Given the description of an element on the screen output the (x, y) to click on. 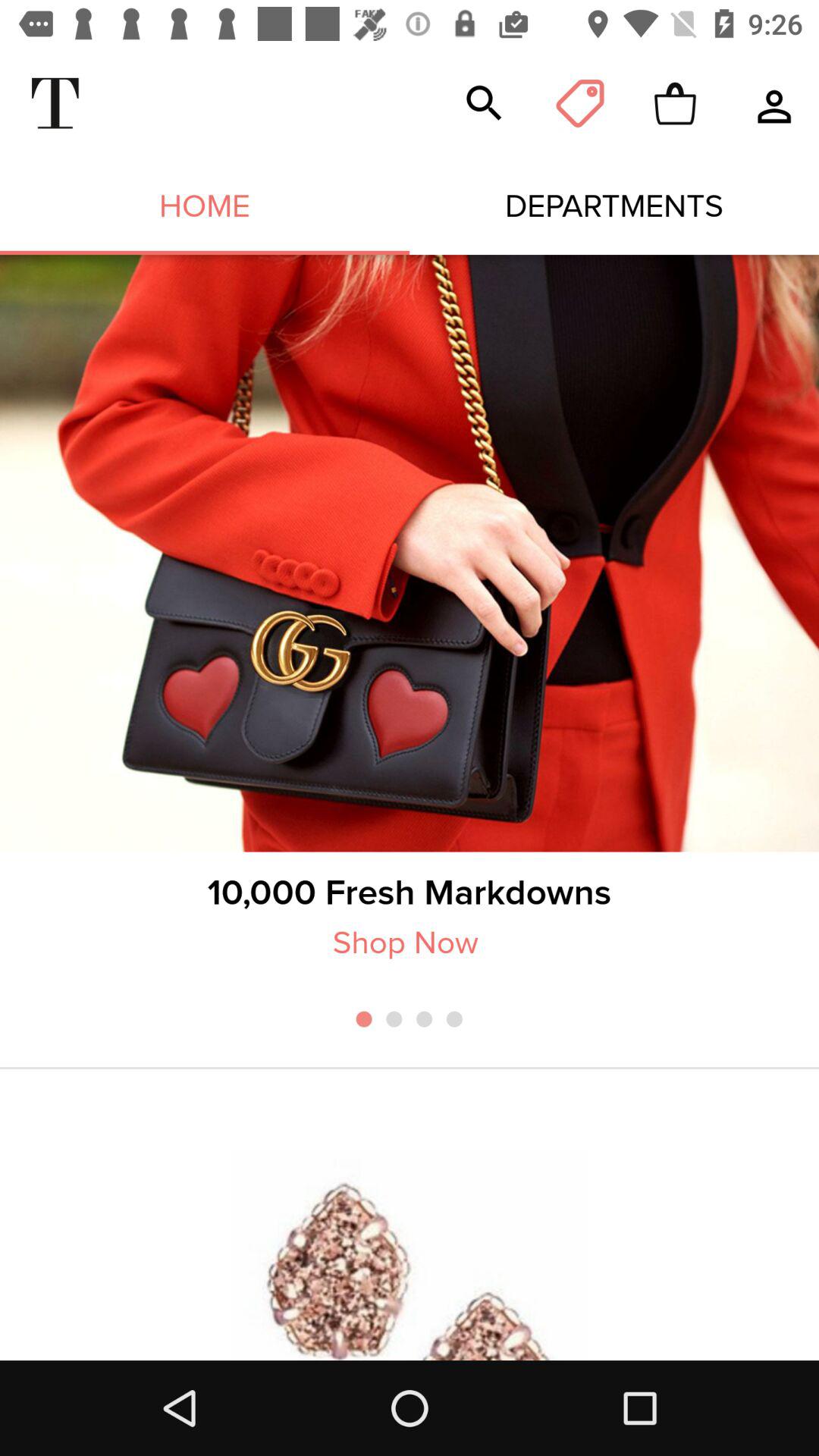
click on second image (409, 1253)
select icon after the search icon (580, 103)
click on the search icon which is beside t (484, 103)
